Given the description of an element on the screen output the (x, y) to click on. 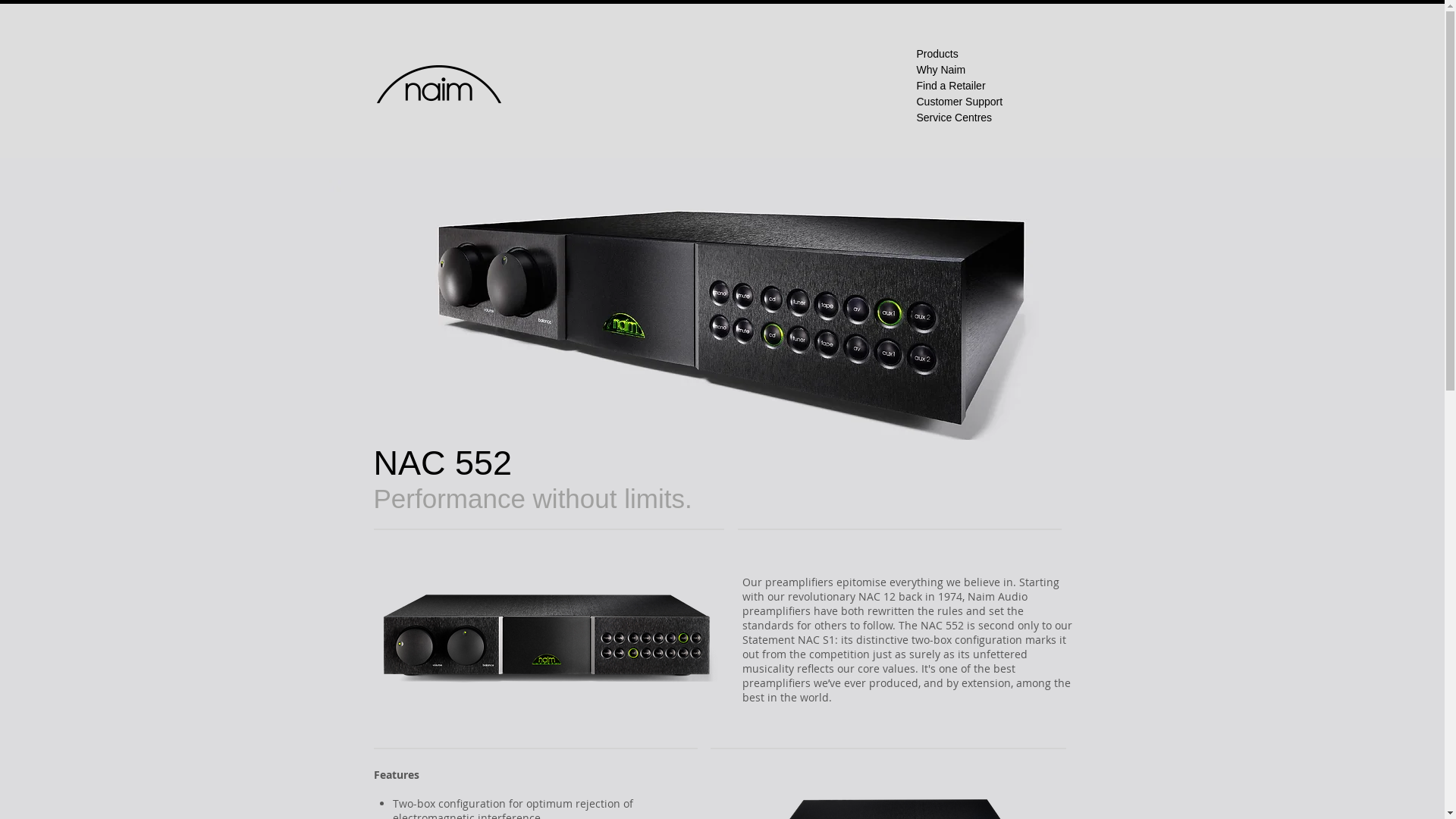
Why Naim Element type: text (940, 69)
Find a Retailer Element type: text (950, 85)
Service Centres Element type: text (953, 117)
Customer Support Element type: text (959, 101)
Products Element type: text (936, 53)
